Given the description of an element on the screen output the (x, y) to click on. 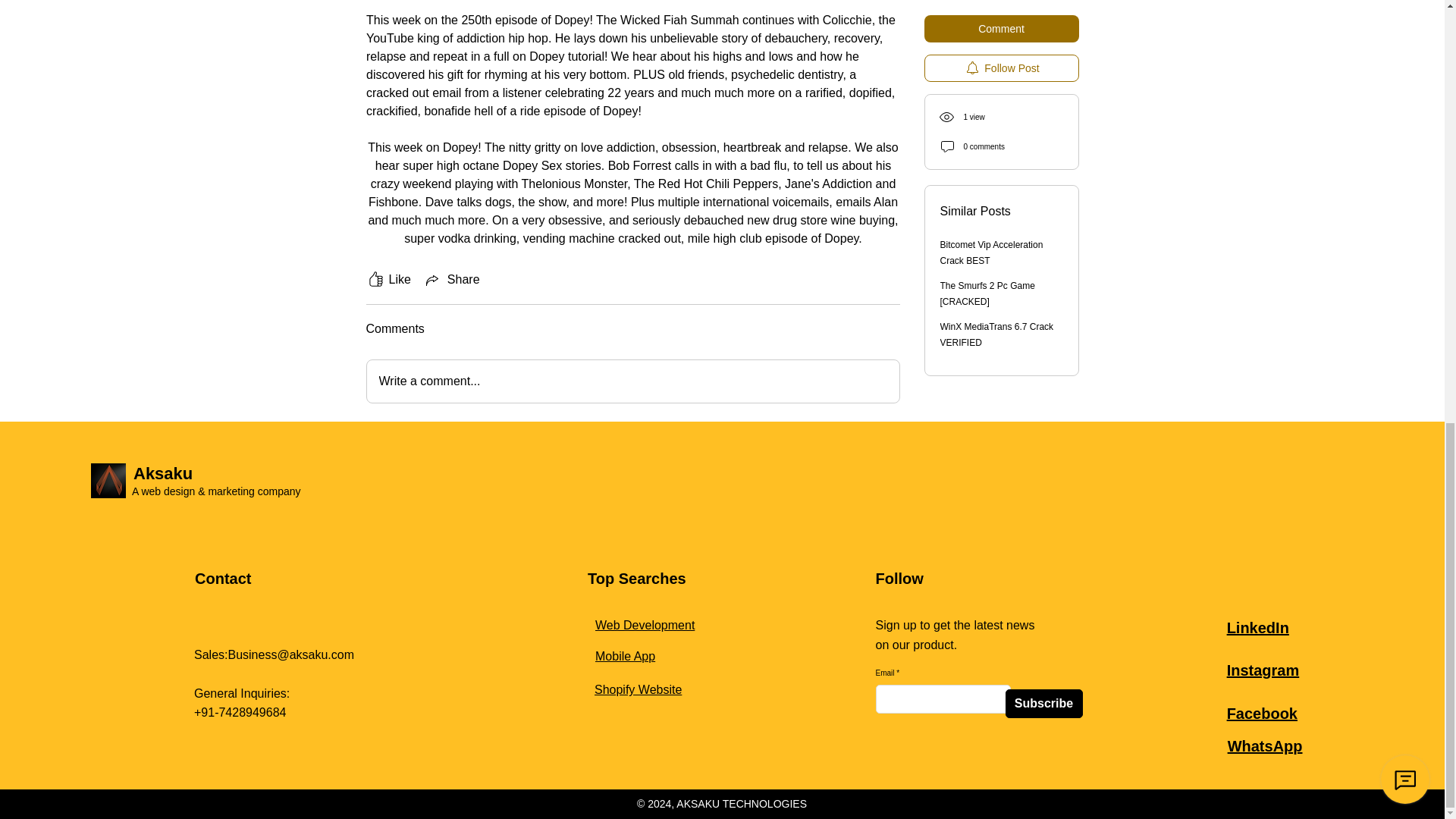
WhatsApp (1265, 745)
LinkedIn (1257, 627)
Like (387, 280)
Web Development (644, 625)
Subscribe (1044, 703)
Facebook (1262, 713)
Write a comment... (632, 381)
aksaku logo.png (107, 480)
Share (451, 280)
Instagram (1263, 669)
